Given the description of an element on the screen output the (x, y) to click on. 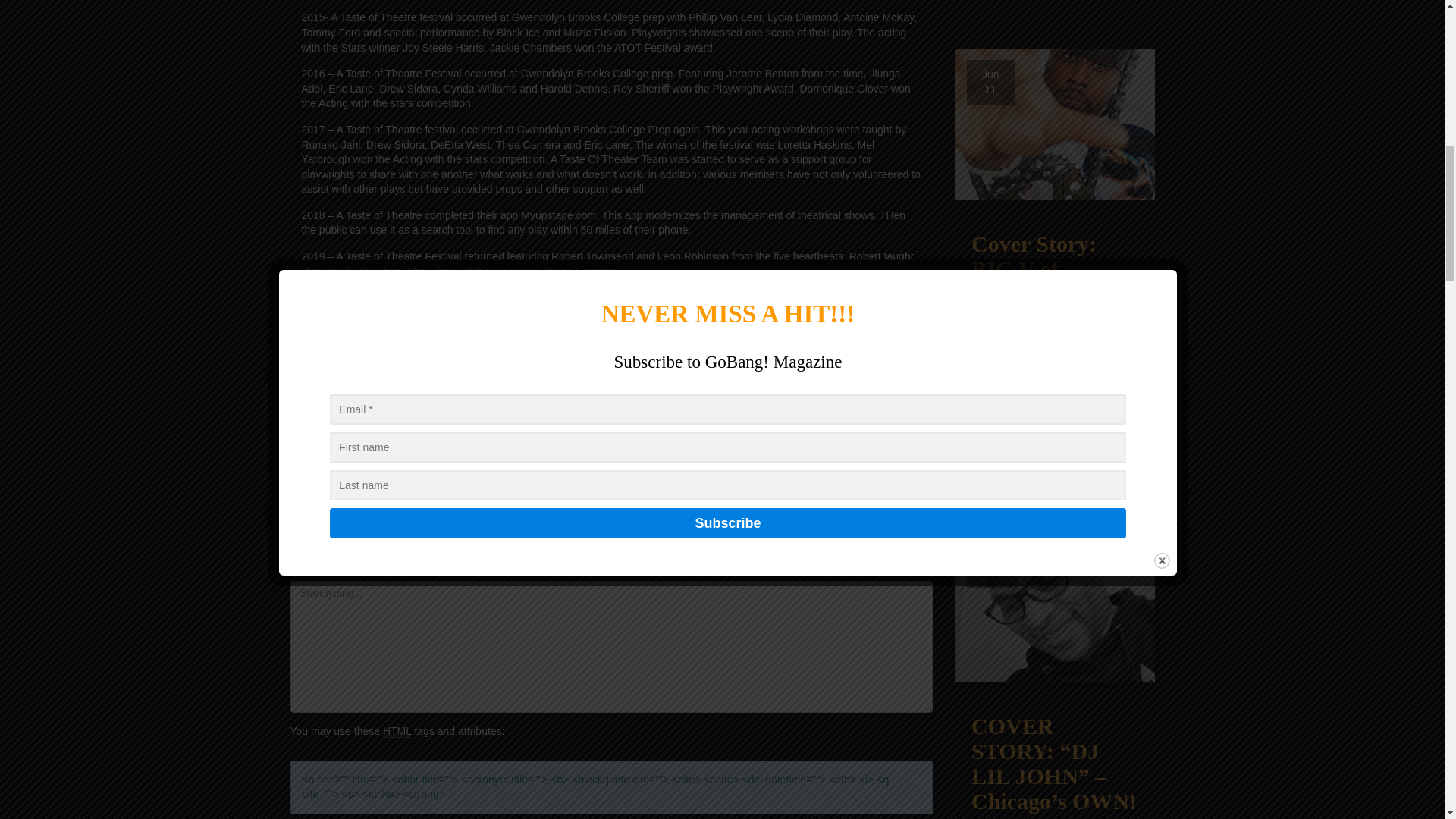
ChicagoDefender.com (491, 364)
NDigo.com (404, 364)
author (844, 364)
dancer (495, 379)
SoulTrain.com (335, 364)
Pinnacle Entertainment Productions (753, 379)
UrbanMuseMag.com (759, 364)
actor, model, poet (429, 379)
EmpireRadioMagazine.com (618, 364)
HyperText Markup Language (397, 730)
DJ (543, 379)
